Given the description of an element on the screen output the (x, y) to click on. 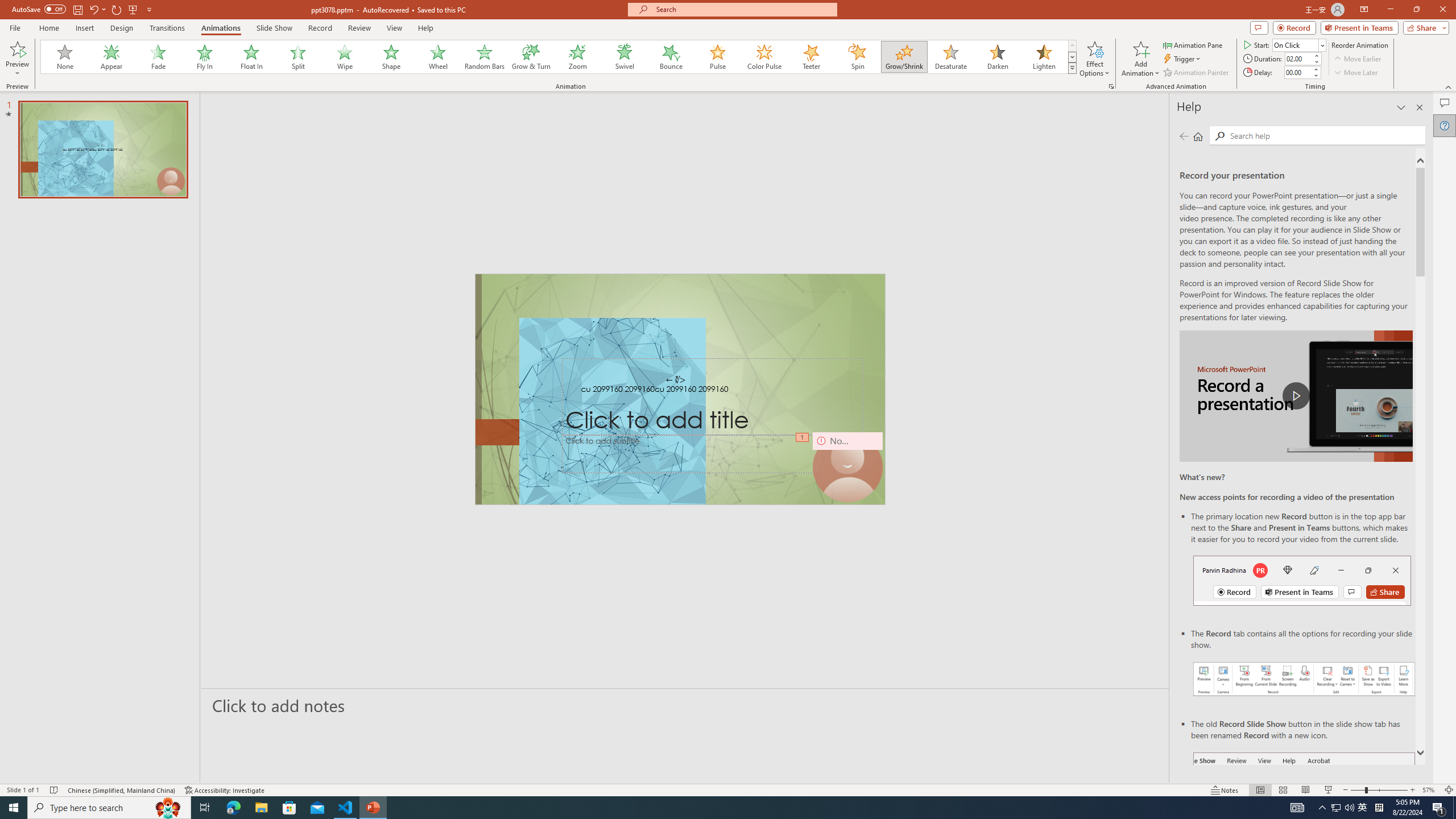
Grow & Turn (531, 56)
Fly In (205, 56)
Pulse (717, 56)
Float In (251, 56)
Wipe (344, 56)
